Given the description of an element on the screen output the (x, y) to click on. 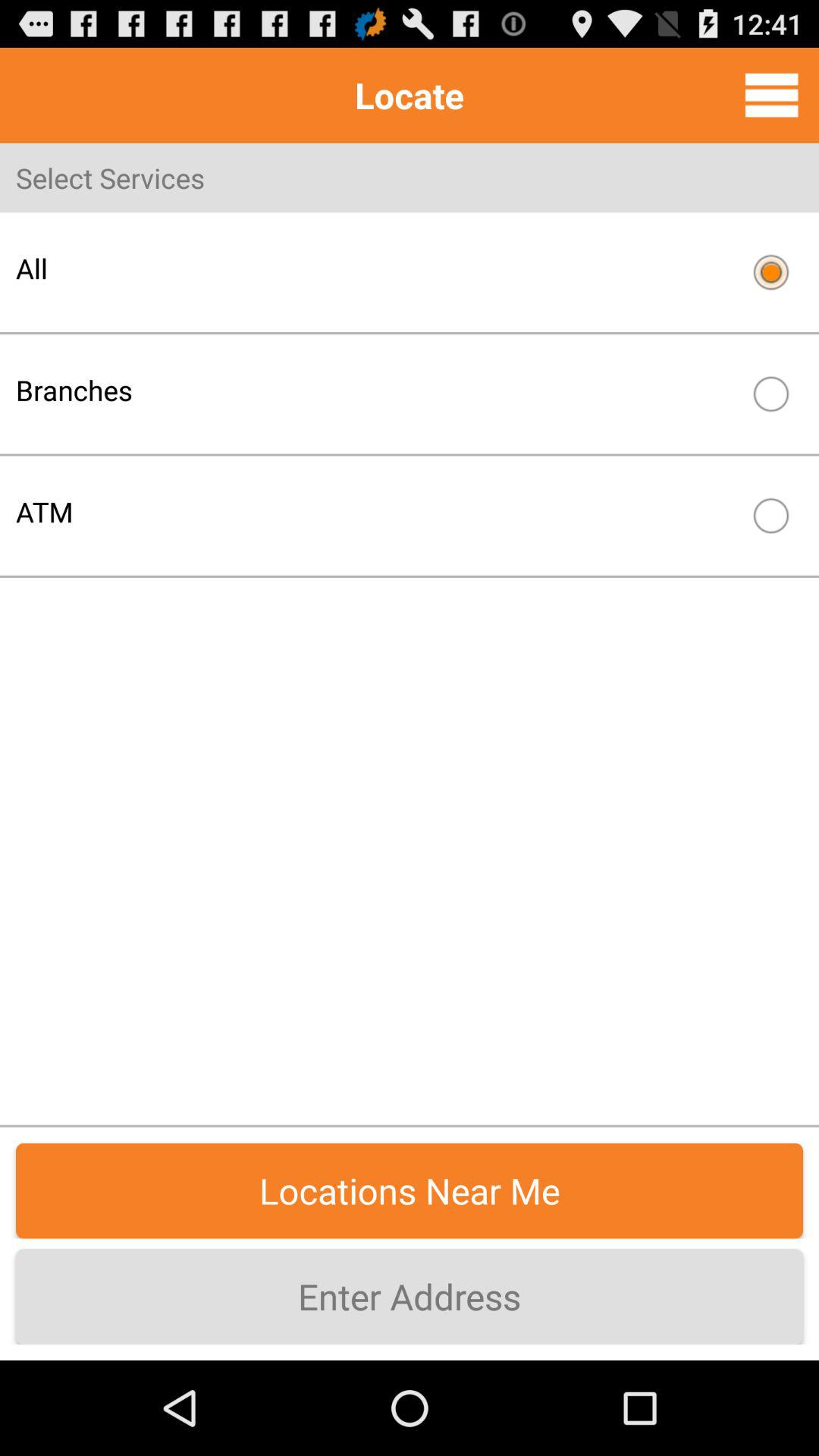
launch icon below the locations near me item (409, 1296)
